Given the description of an element on the screen output the (x, y) to click on. 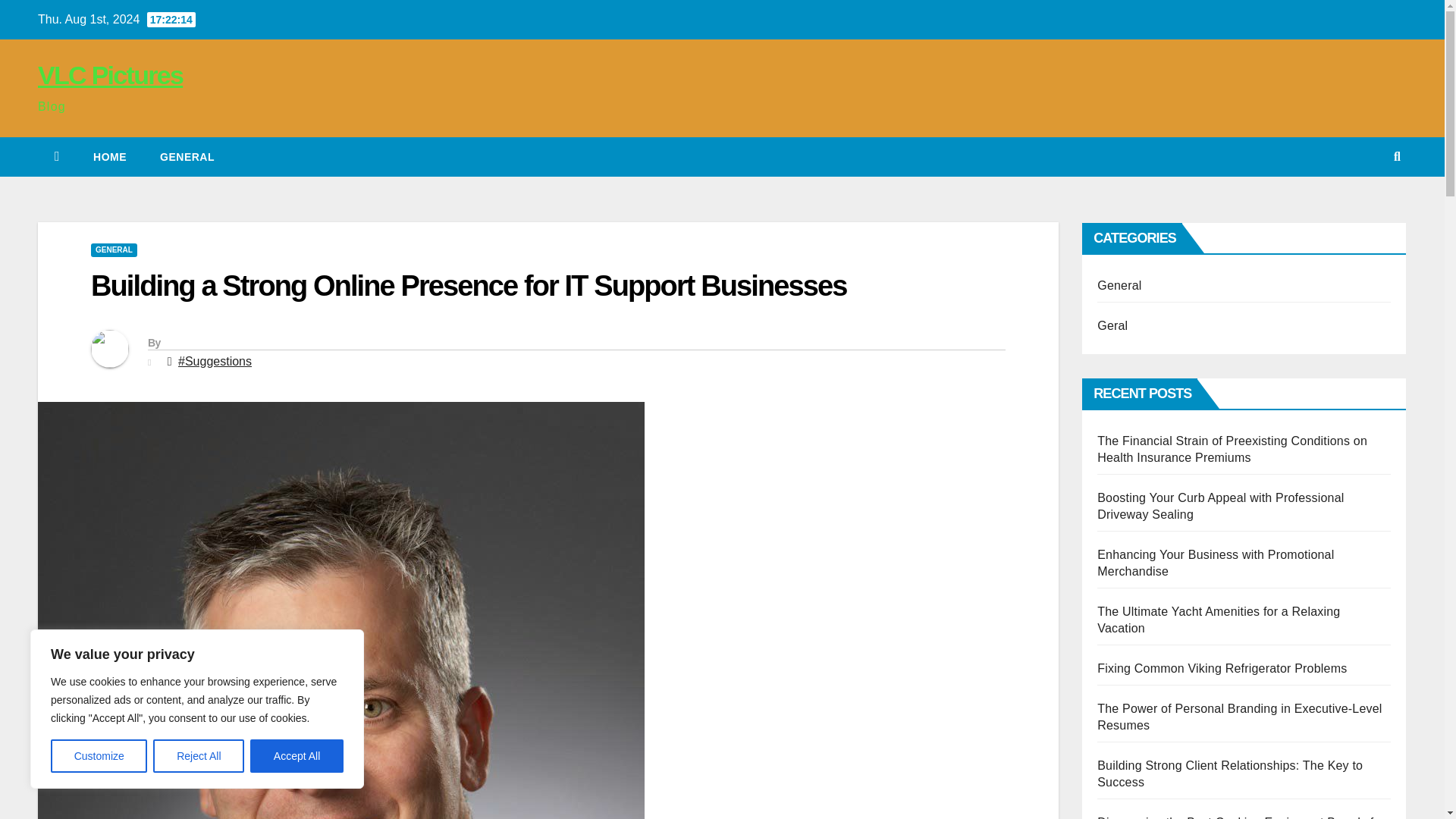
Building a Strong Online Presence for IT Support Businesses (467, 286)
Reject All (198, 756)
Accept All (296, 756)
Home (109, 156)
GENERAL (113, 250)
GENERAL (186, 156)
Customize (98, 756)
VLC Pictures (110, 74)
General (186, 156)
